Given the description of an element on the screen output the (x, y) to click on. 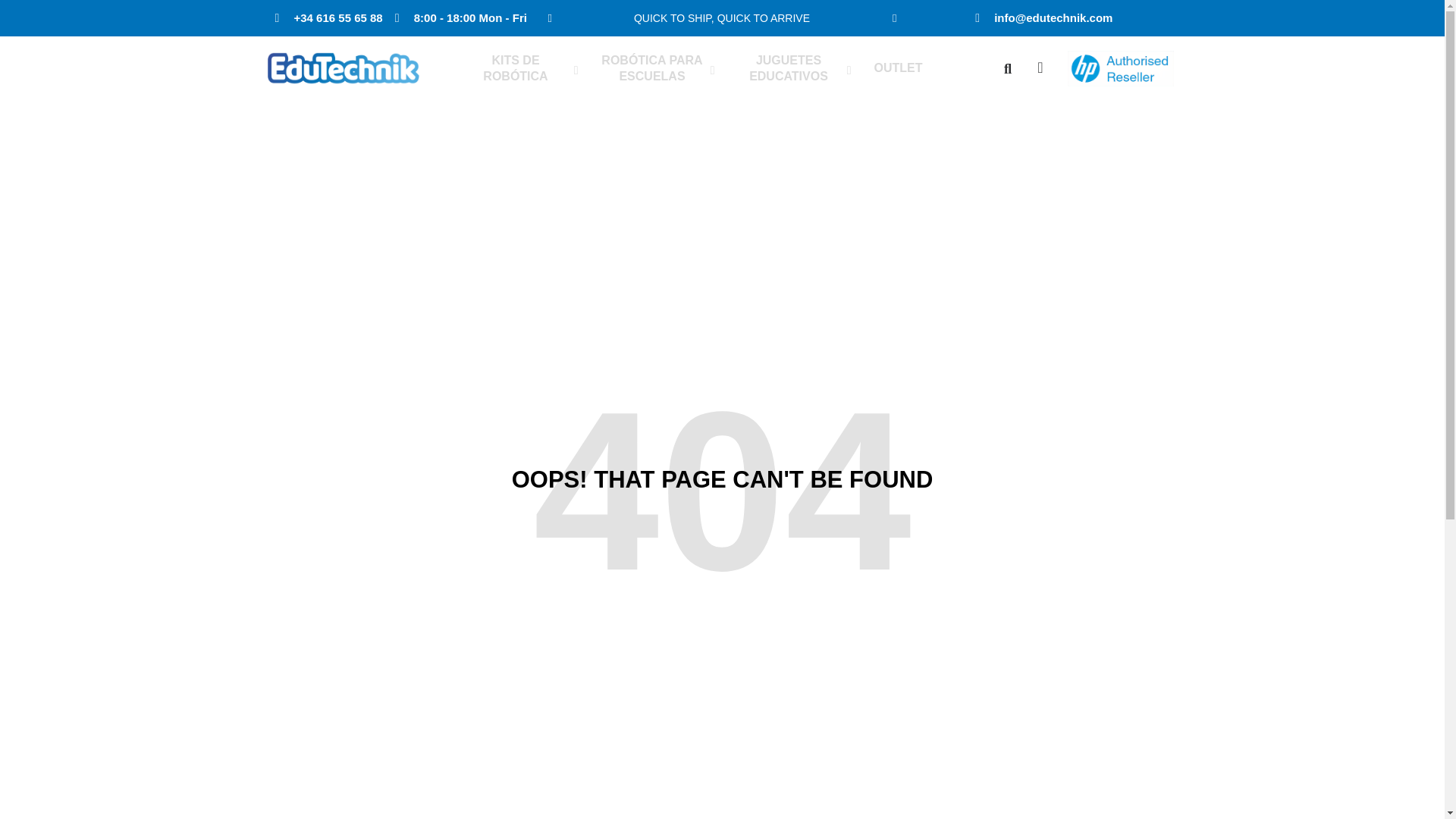
OUTLET (898, 68)
JUGUETES EDUCATIVOS (790, 68)
